Given the description of an element on the screen output the (x, y) to click on. 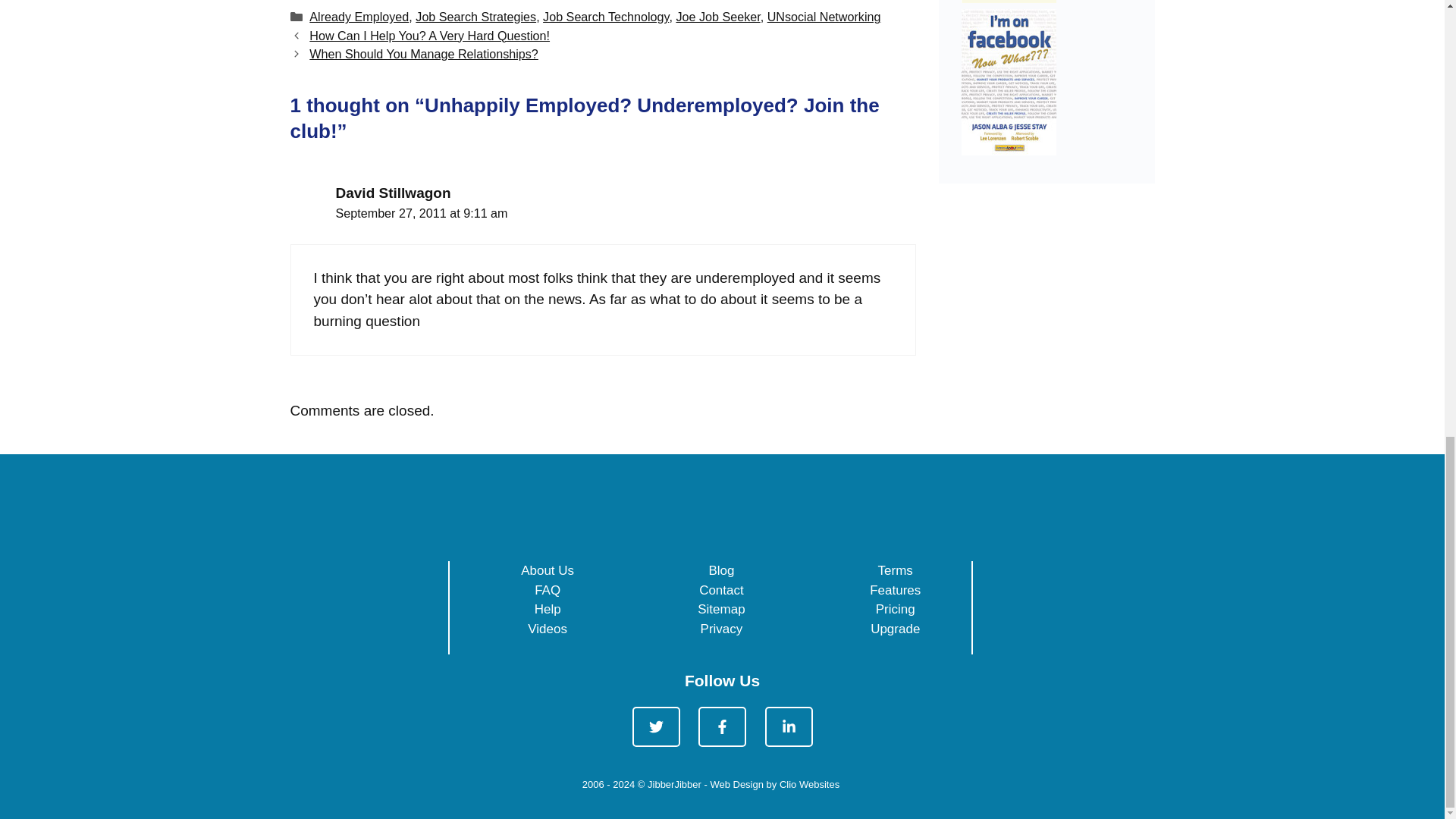
Privacy (721, 628)
Terms (894, 570)
When Should You Manage Relationships? (423, 53)
Joe Job Seeker (717, 16)
Contact (721, 590)
Next (423, 53)
FAQ (547, 590)
About Us (547, 570)
Sitemap (720, 608)
Already Employed (358, 16)
Blog (720, 570)
Job Search Technology (605, 16)
Previous (429, 35)
David Stillwagon (391, 192)
How Can I Help You? A Very Hard Question! (429, 35)
